Given the description of an element on the screen output the (x, y) to click on. 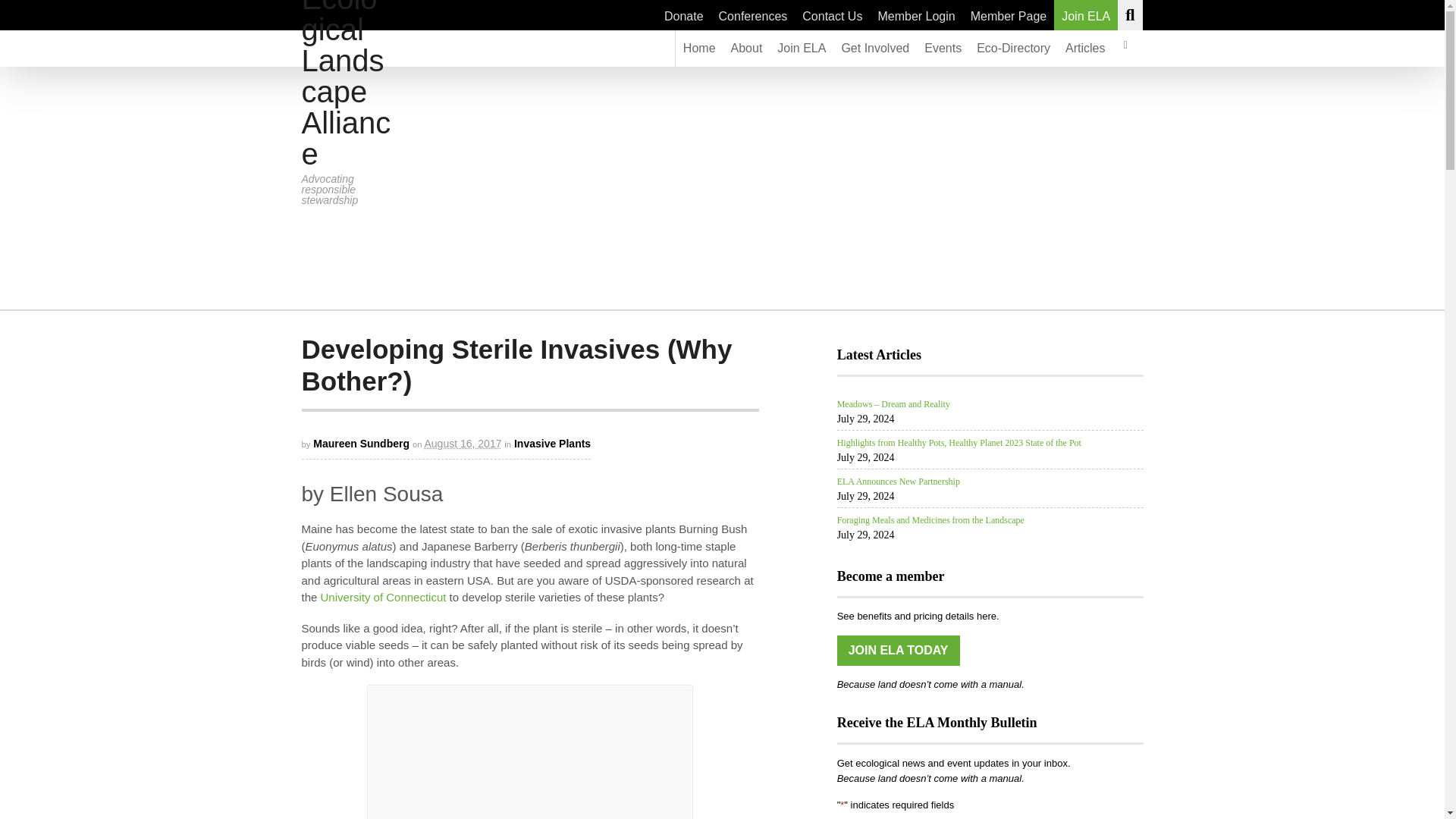
Contact Us (831, 15)
View your shopping cart (1124, 48)
Get Involved (874, 48)
Donate (683, 15)
Join ELA (1086, 15)
Home (699, 48)
View all items in Invasive Plants (552, 443)
Member Page (1008, 15)
Join ELA (801, 48)
Posts by Maureen Sundberg (361, 443)
Events (943, 48)
Member Login (915, 15)
2017-08-16T13:39:57-0400 (461, 443)
About (746, 48)
Conferences (752, 15)
